Given the description of an element on the screen output the (x, y) to click on. 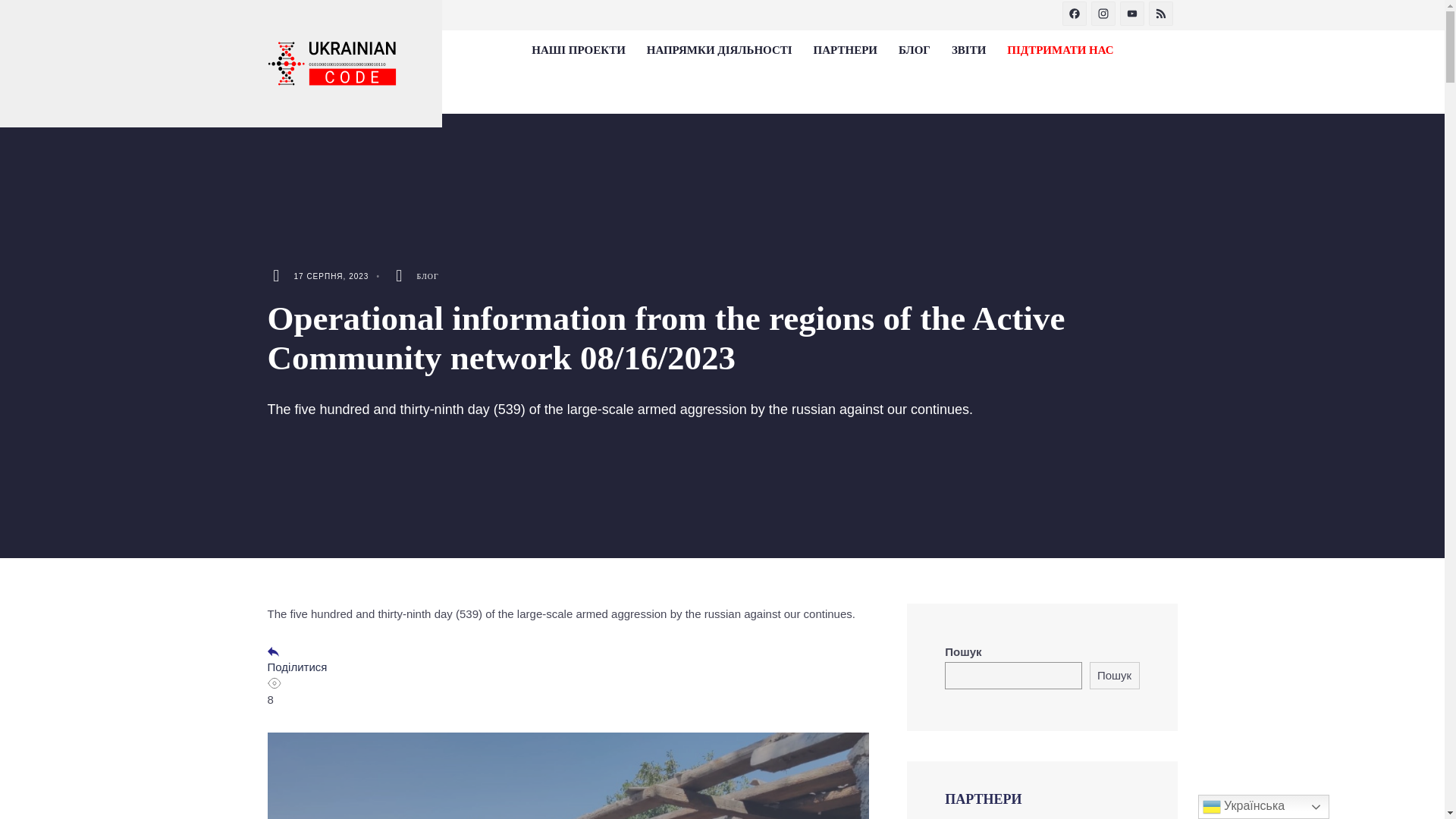
Feed (1162, 15)
YouTube Channel (1133, 15)
Instagram (1104, 15)
Facebook (1075, 15)
Instagram (1104, 15)
RSS Feed (1162, 15)
YouTube Channel (1133, 15)
Facebook (1075, 15)
